Given the description of an element on the screen output the (x, y) to click on. 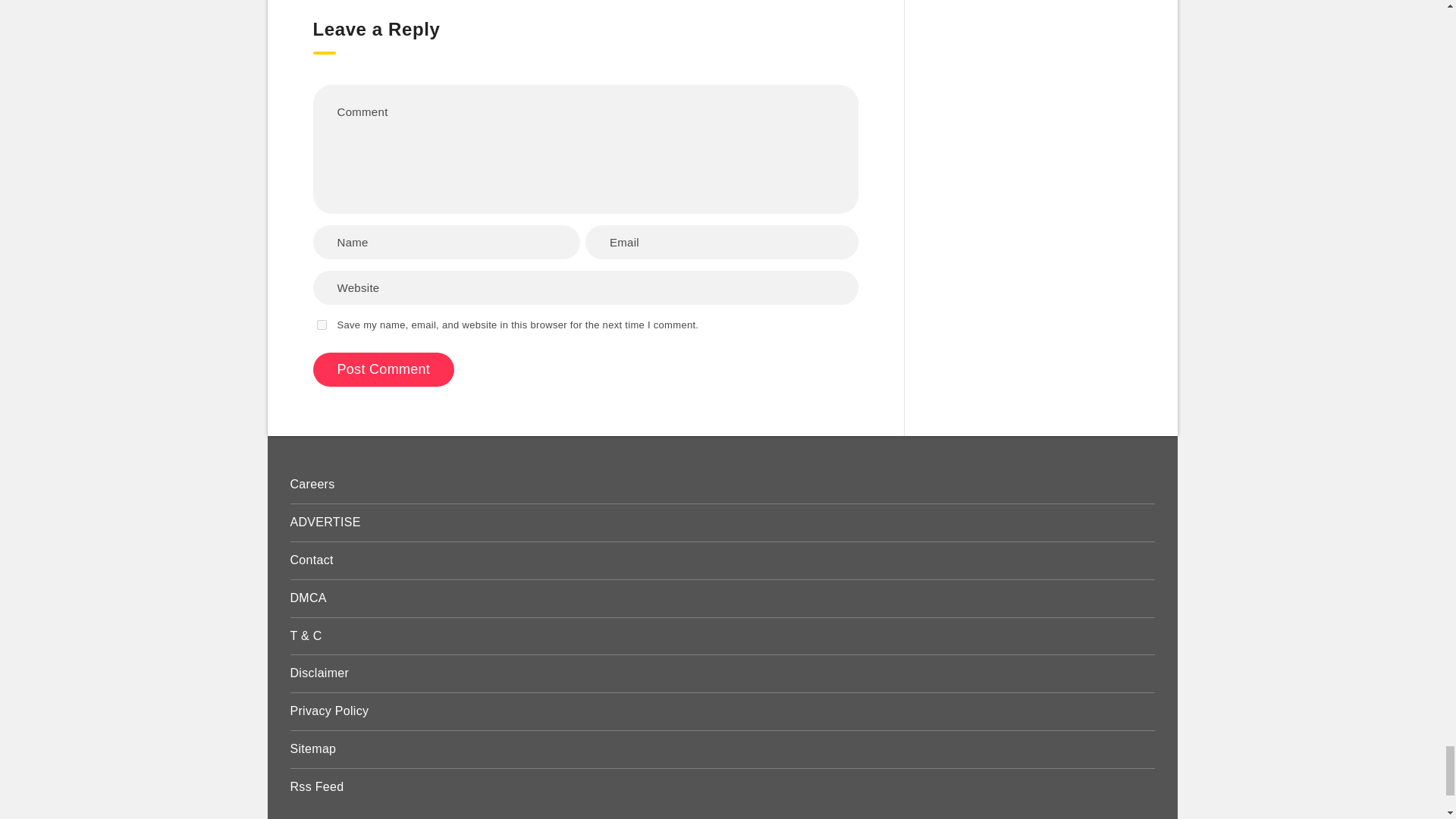
Post Comment (383, 369)
yes (321, 325)
